Given the description of an element on the screen output the (x, y) to click on. 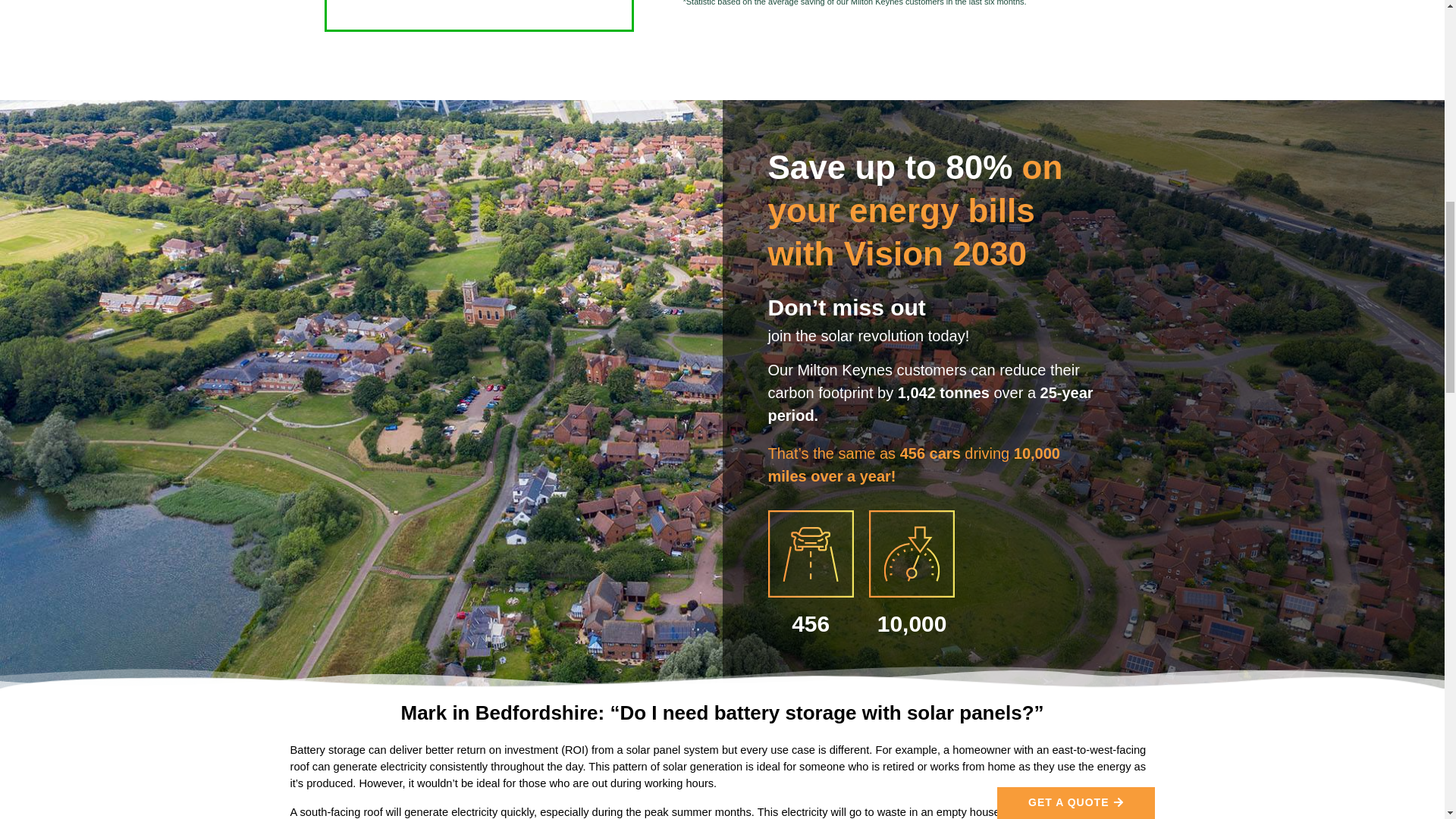
Milton Keynes (478, 14)
